Given the description of an element on the screen output the (x, y) to click on. 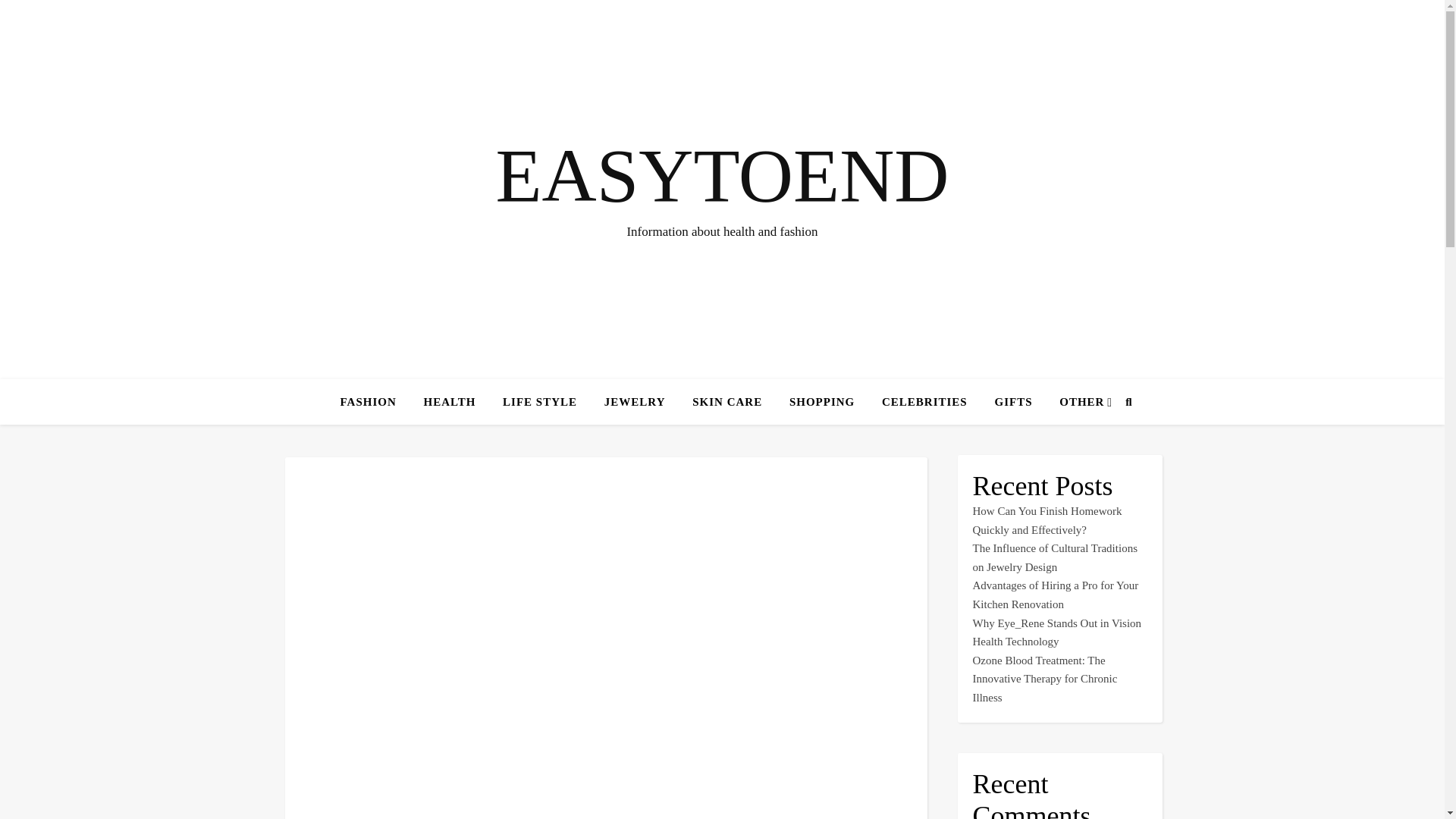
OTHER (1074, 402)
HEALTH (449, 402)
CELEBRITIES (924, 402)
GIFTS (1012, 402)
SKIN CARE (726, 402)
LIFE STYLE (539, 402)
SHOPPING (821, 402)
FASHION (374, 402)
JEWELRY (635, 402)
